Given the description of an element on the screen output the (x, y) to click on. 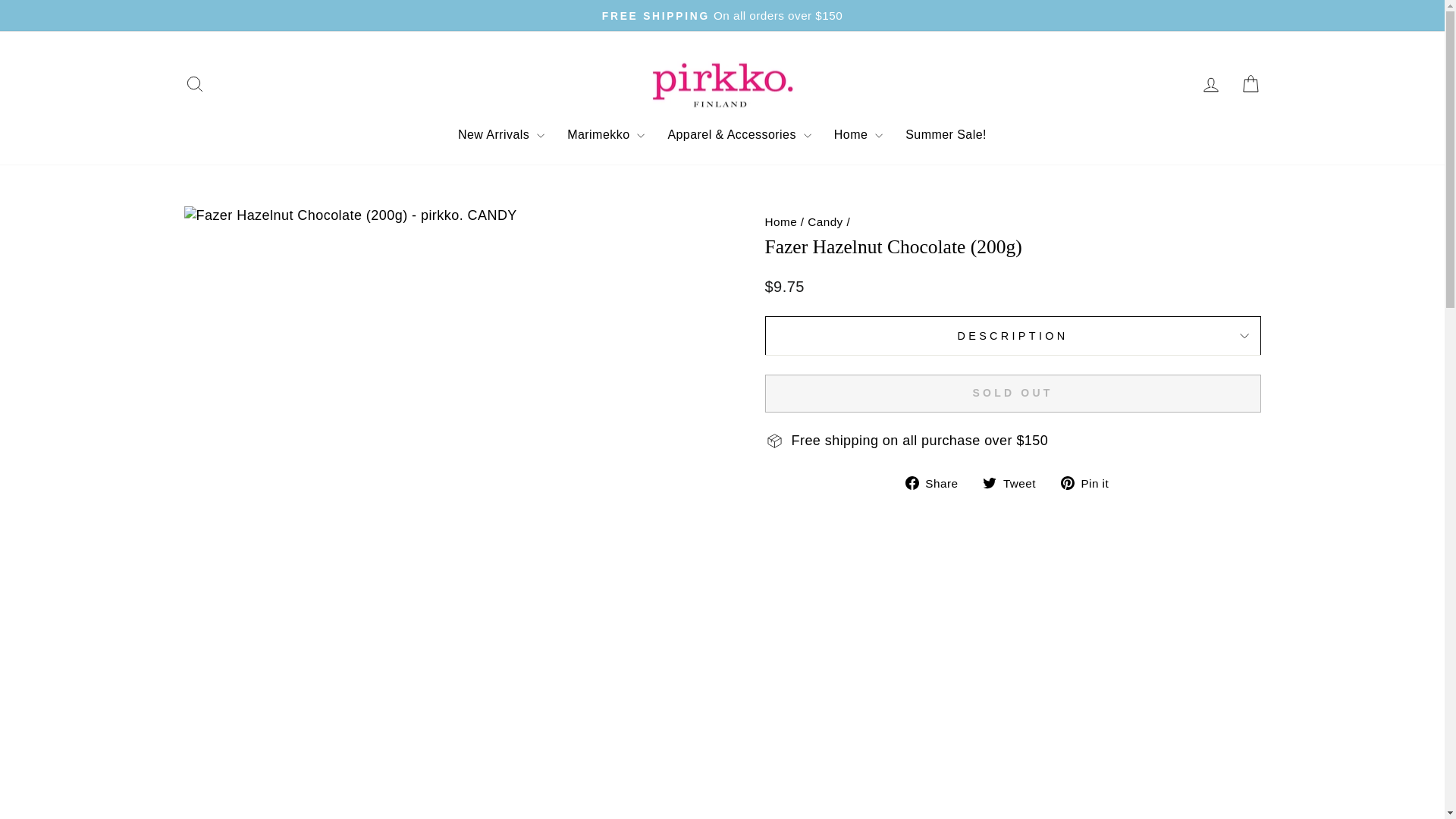
twitter (988, 482)
icon-search (194, 84)
Tweet on Twitter (1014, 482)
account (1210, 84)
Pin on Pinterest (1090, 482)
Back to the frontpage (780, 221)
Share on Facebook (937, 482)
